Given the description of an element on the screen output the (x, y) to click on. 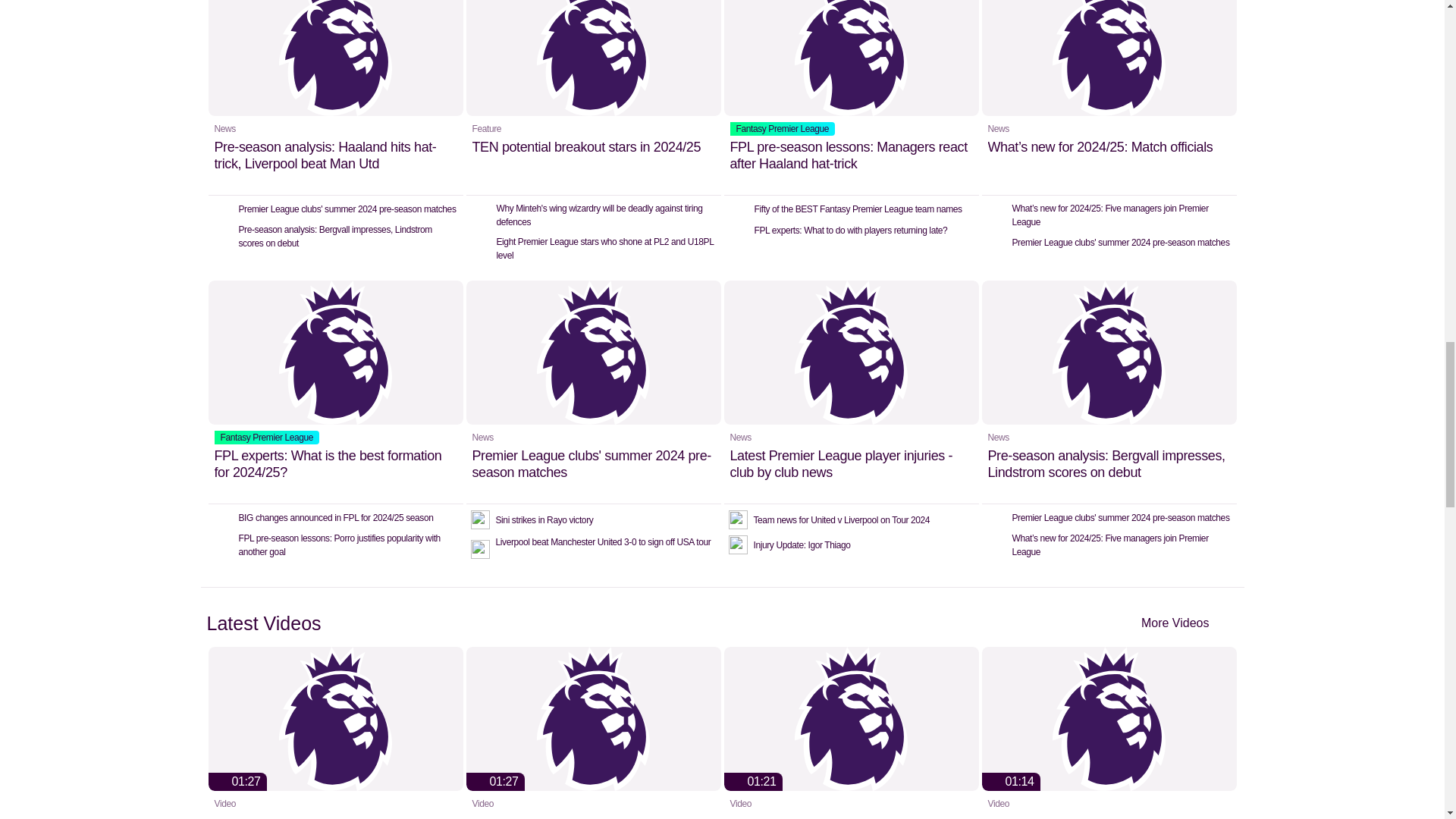
Premier League clubs' summer 2024 pre-season matches (592, 391)
Latest Premier League player injuries - club by club news (850, 391)
100m final: The eight FASTEST Premier League players (335, 733)
